Given the description of an element on the screen output the (x, y) to click on. 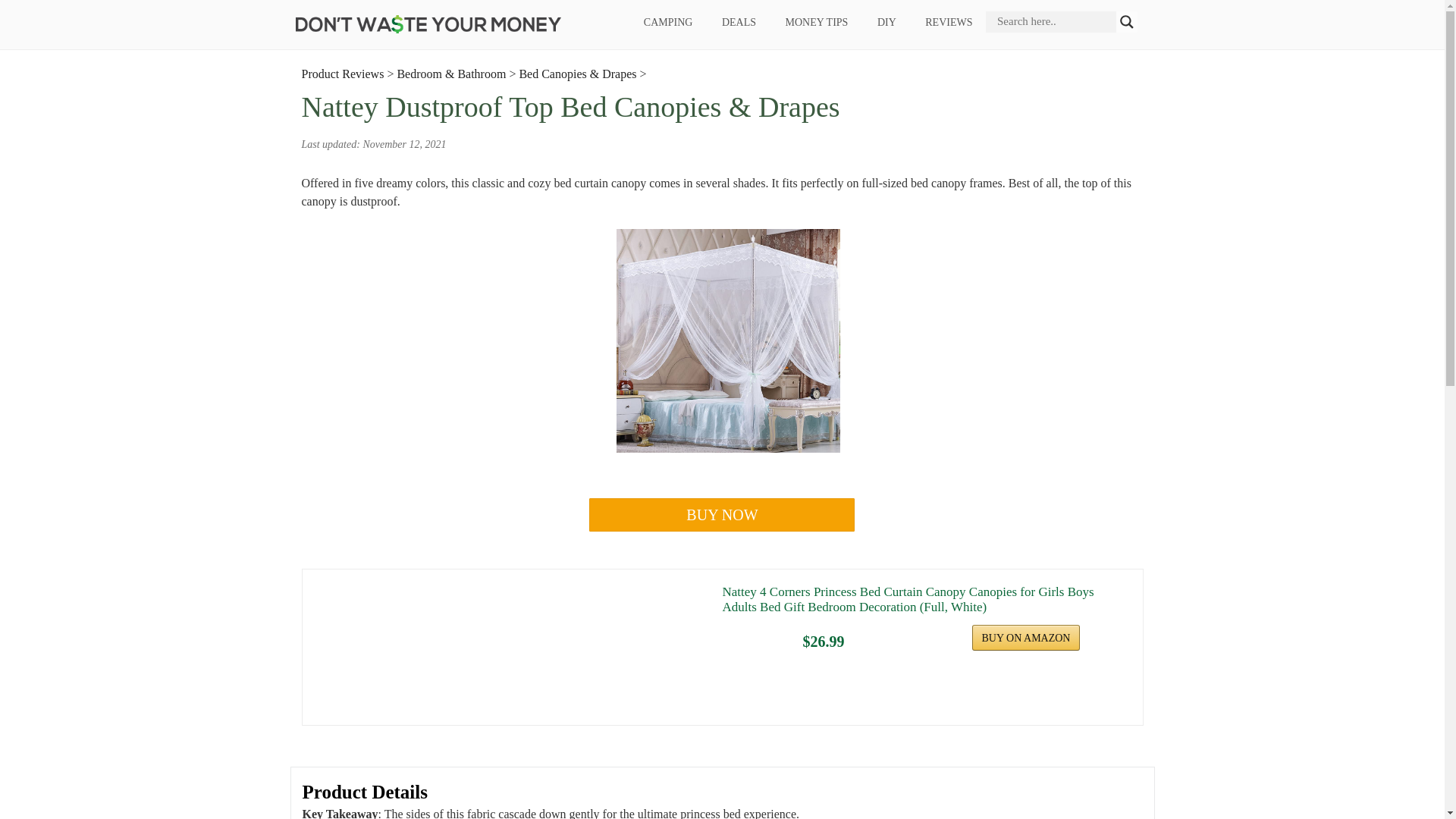
REVIEWS (948, 22)
BUY NOW (721, 514)
Product Reviews (342, 73)
DEALS (737, 22)
DIY (885, 22)
BUY ON AMAZON (1026, 637)
MONEY TIPS (816, 22)
CAMPING (668, 22)
BUY ON AMAZON (1026, 637)
